Given the description of an element on the screen output the (x, y) to click on. 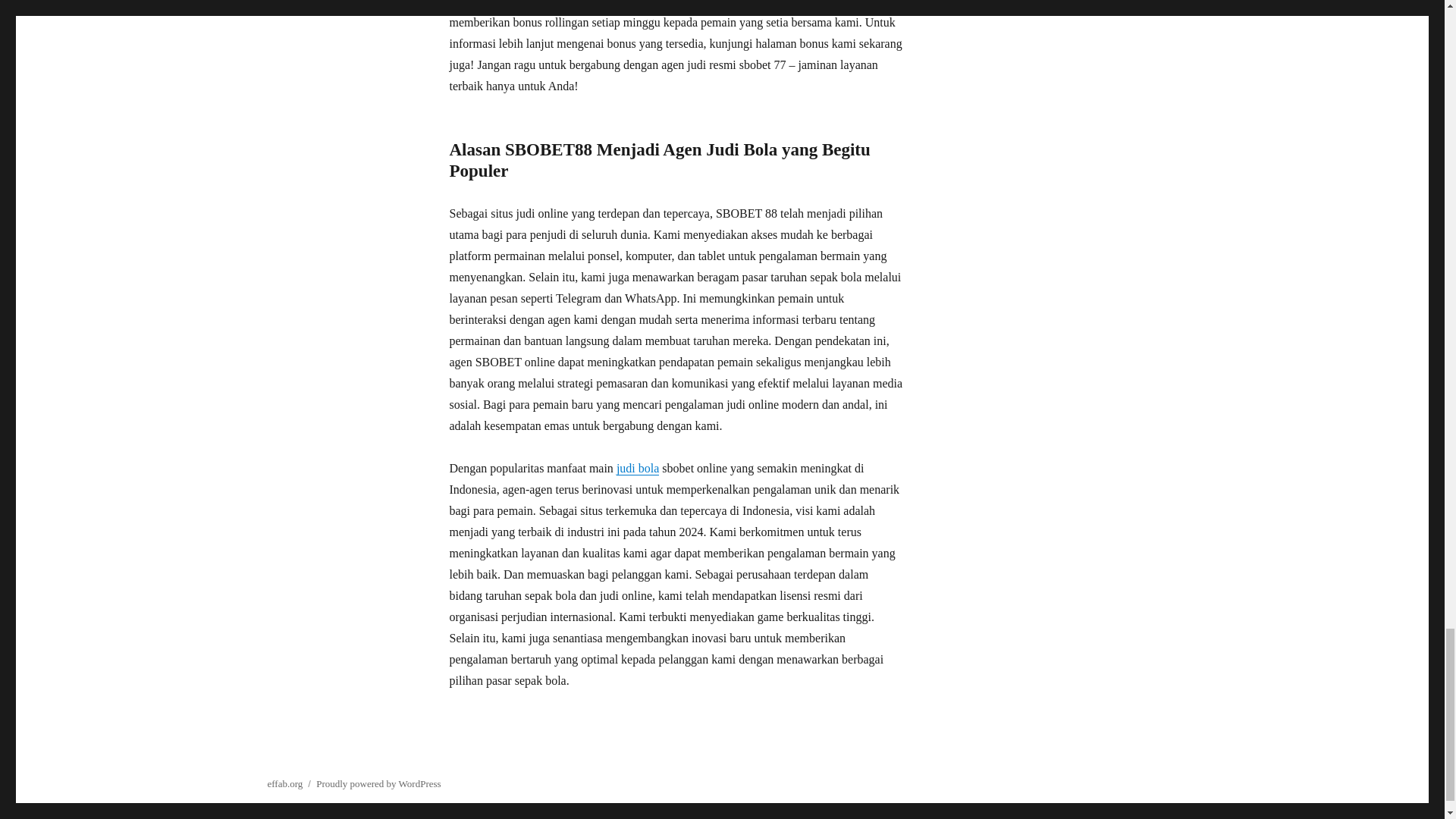
effab.org (284, 783)
Proudly powered by WordPress (378, 783)
judi bola (637, 468)
